Given the description of an element on the screen output the (x, y) to click on. 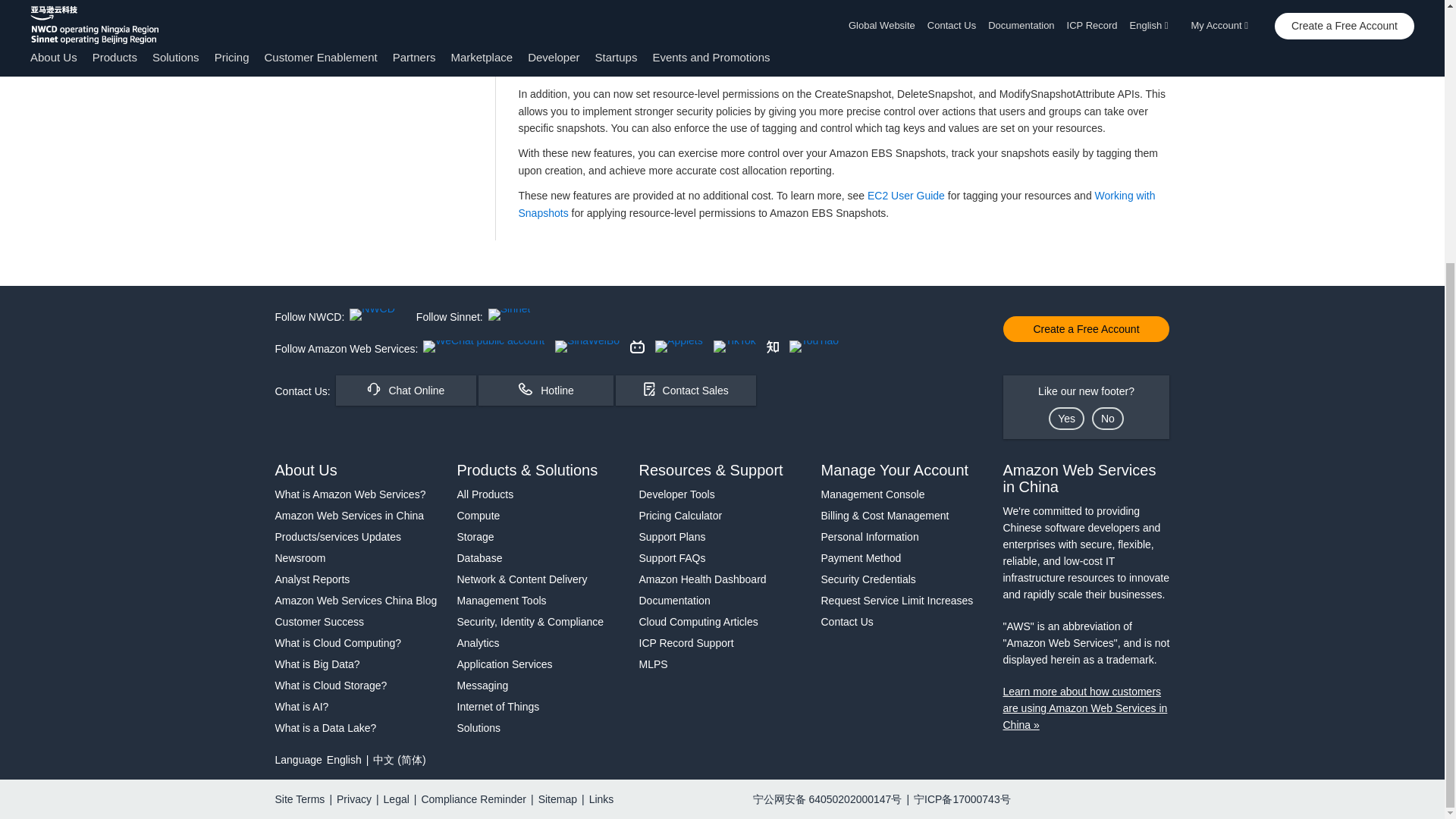
Applets (679, 346)
WeChat public account (483, 346)
TouTiao (813, 346)
NWCD (371, 314)
TikTok (734, 346)
Bilibili (637, 346)
ZhiHu (772, 346)
SinaWeiBo (587, 346)
Sinnet (509, 314)
